Given the description of an element on the screen output the (x, y) to click on. 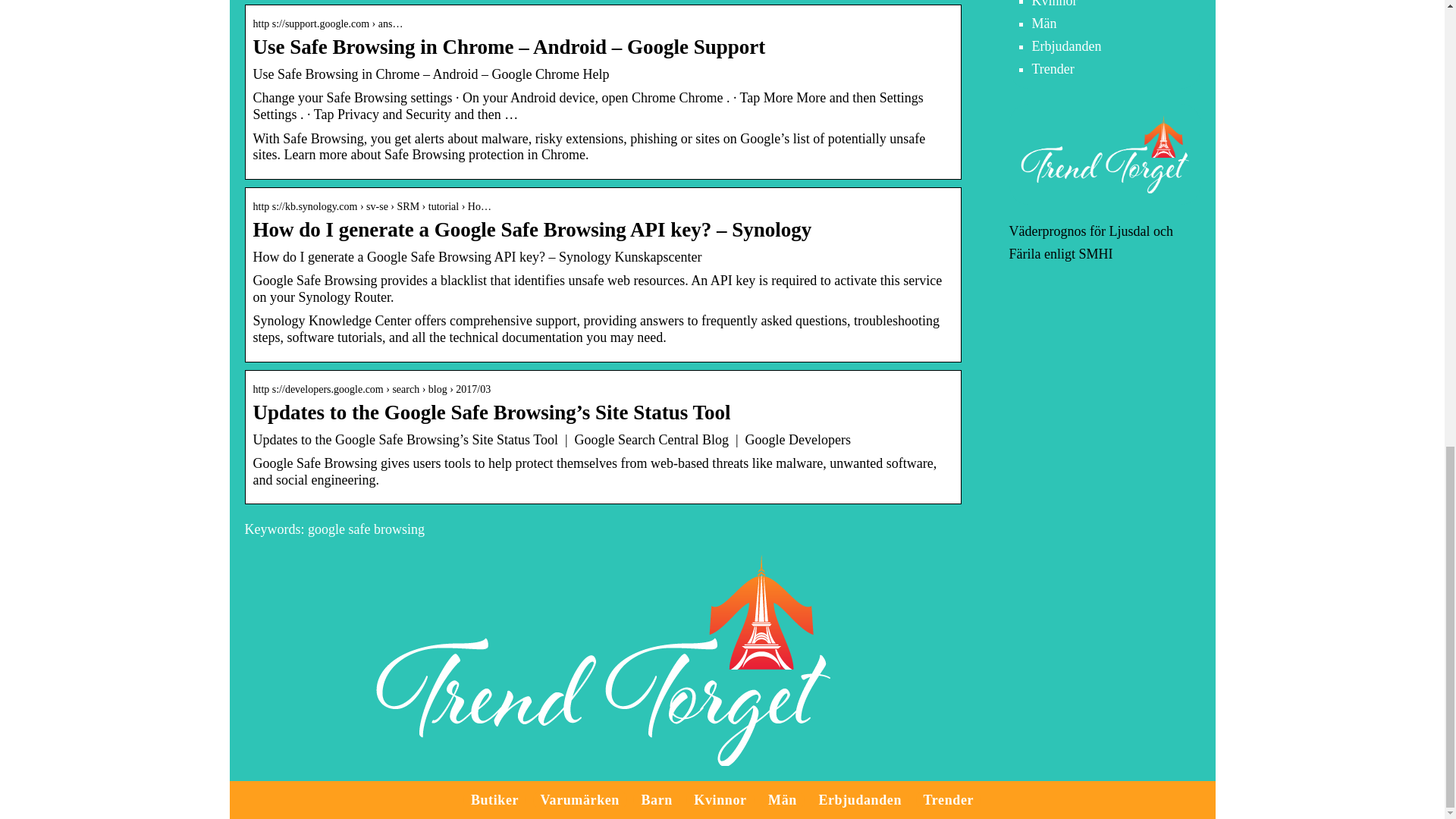
Butiker (494, 799)
Erbjudanden (859, 799)
Erbjudanden (1065, 46)
Kvinnor (1053, 4)
Barn (655, 799)
Kvinnor (719, 799)
Trender (948, 799)
Trender (1052, 68)
